Given the description of an element on the screen output the (x, y) to click on. 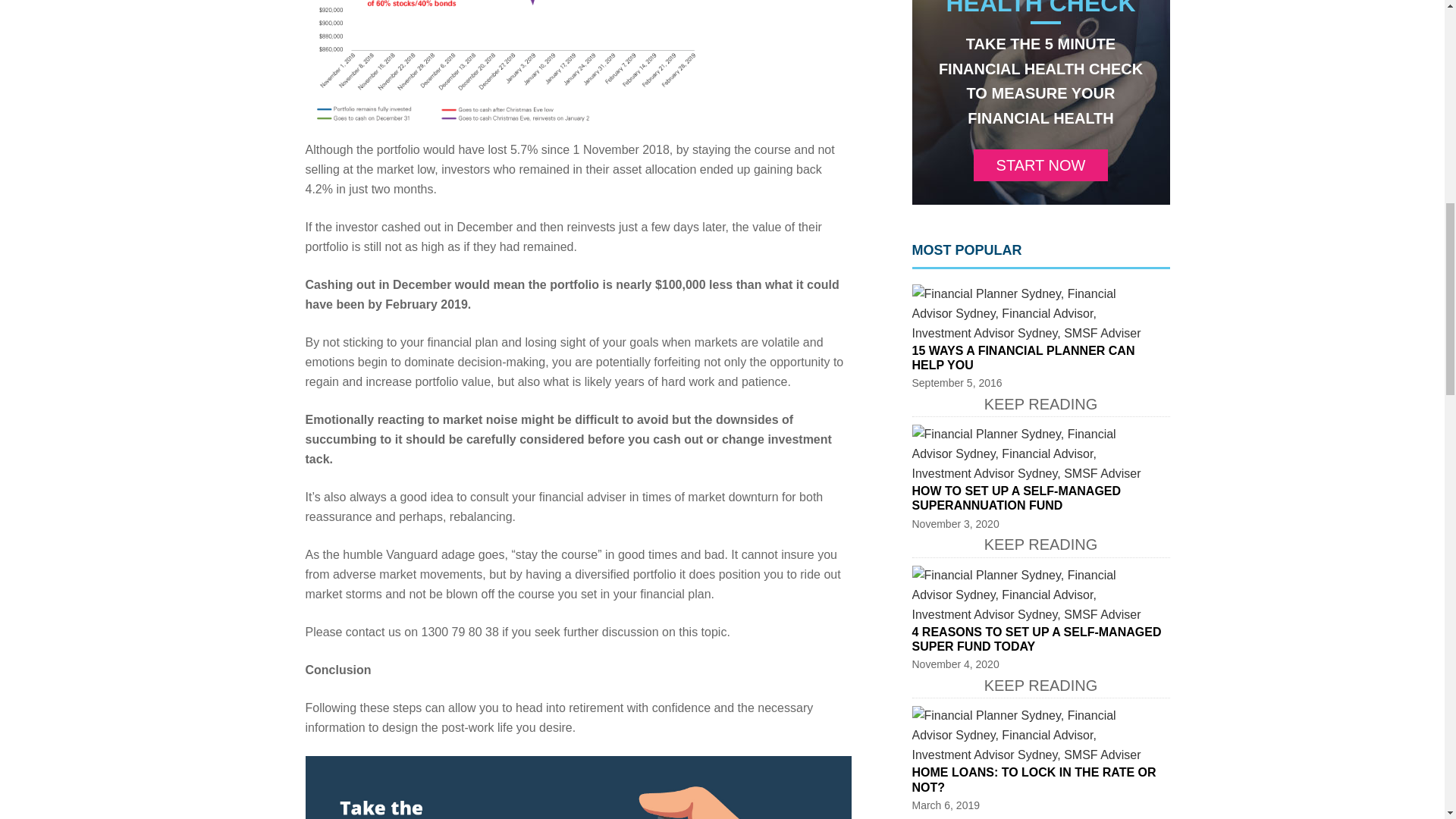
4 REASONS TO SET UP A SELF-MANAGED SUPER FUND TODAY (1035, 638)
15 WAYS A FINANCIAL PLANNER CAN HELP YOU (1022, 357)
HOME LOANS: TO LOCK IN THE RATE OR NOT? (1033, 779)
START NOW (1041, 164)
HOW TO SET UP A SELF-MANAGED SUPERANNUATION FUND (1016, 497)
